Given the description of an element on the screen output the (x, y) to click on. 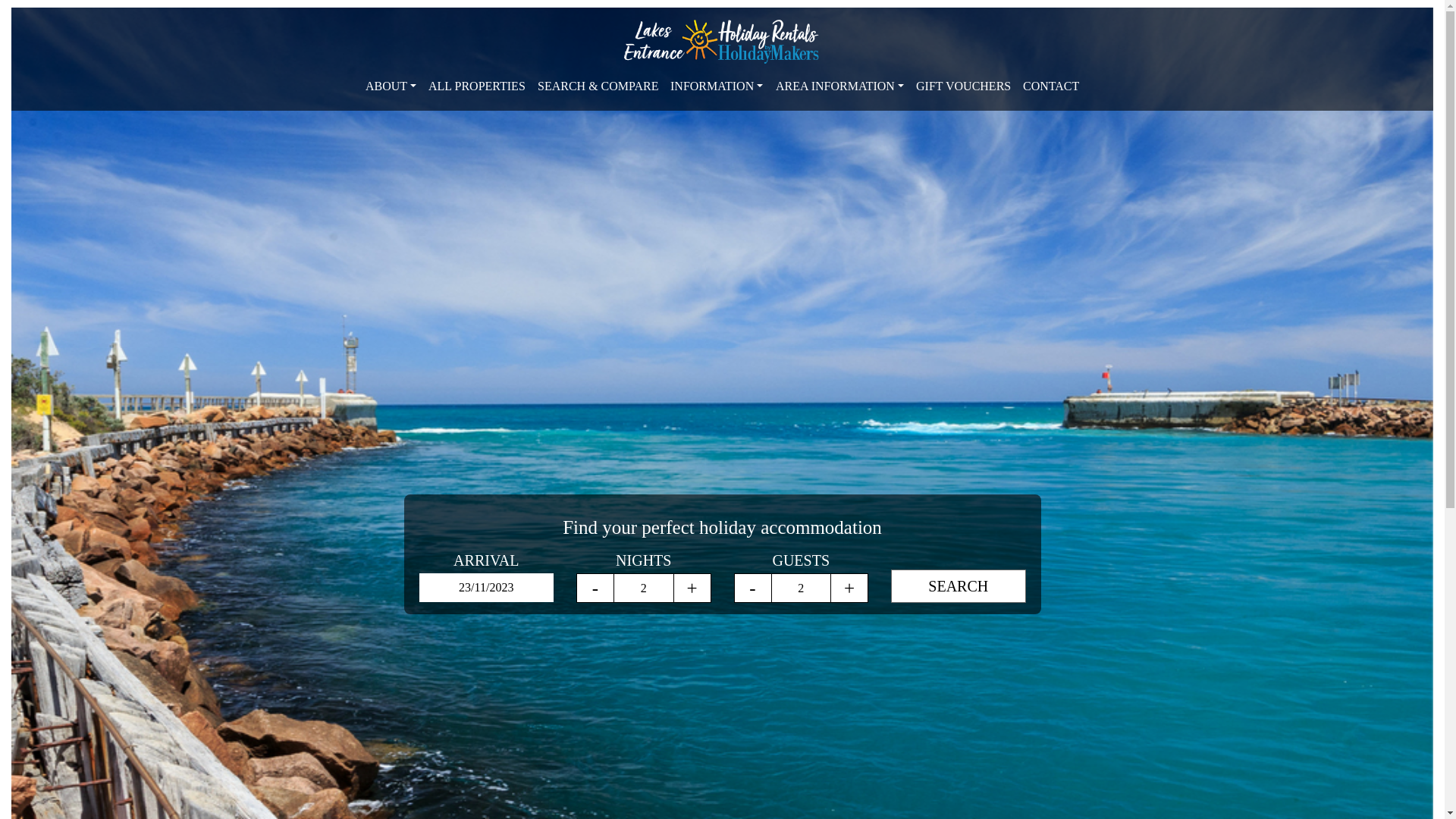
SEARCH & COMPARE Element type: text (597, 86)
+ Element type: text (692, 587)
ALL PROPERTIES Element type: text (476, 86)
CONTACT Element type: text (1050, 86)
SEARCH Element type: text (958, 585)
AREA INFORMATION Element type: text (839, 86)
+ Element type: text (849, 587)
GIFT VOUCHERS Element type: text (963, 86)
INFORMATION Element type: text (716, 86)
- Element type: text (752, 587)
ABOUT Element type: text (390, 86)
- Element type: text (595, 587)
